Given the description of an element on the screen output the (x, y) to click on. 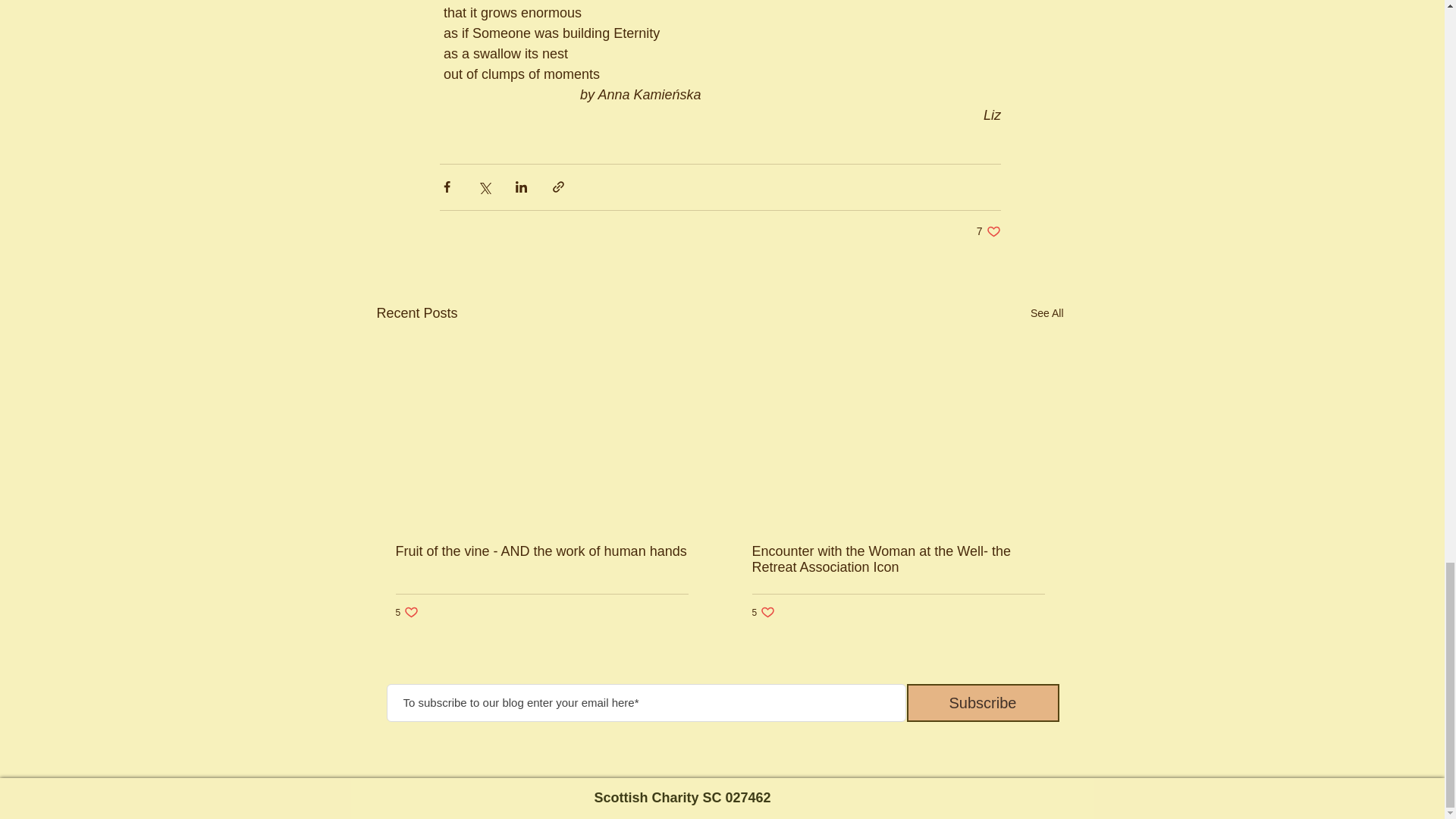
See All (1047, 313)
Fruit of the vine - AND the work of human hands (988, 231)
Subscribe (407, 612)
